Given the description of an element on the screen output the (x, y) to click on. 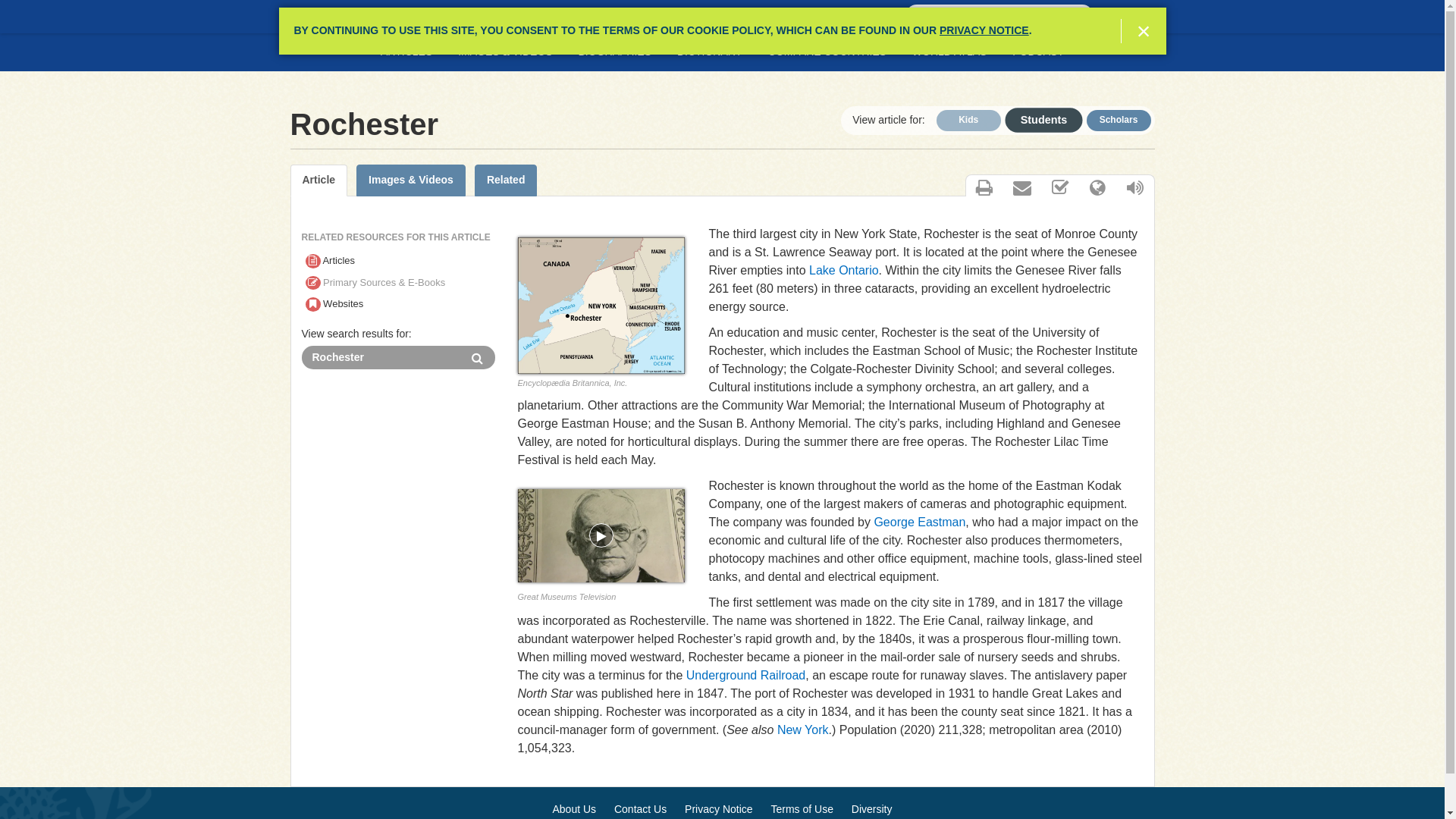
George Eastman House (600, 535)
Rochester (381, 357)
Rochester (381, 357)
STUDENTS (336, 16)
